Given the description of an element on the screen output the (x, y) to click on. 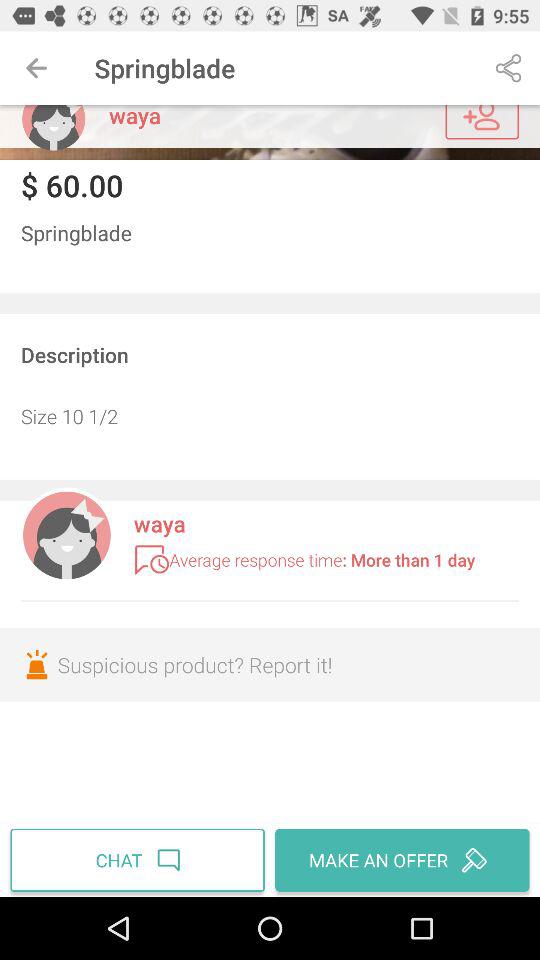
click the item at the bottom right corner (399, 860)
